Given the description of an element on the screen output the (x, y) to click on. 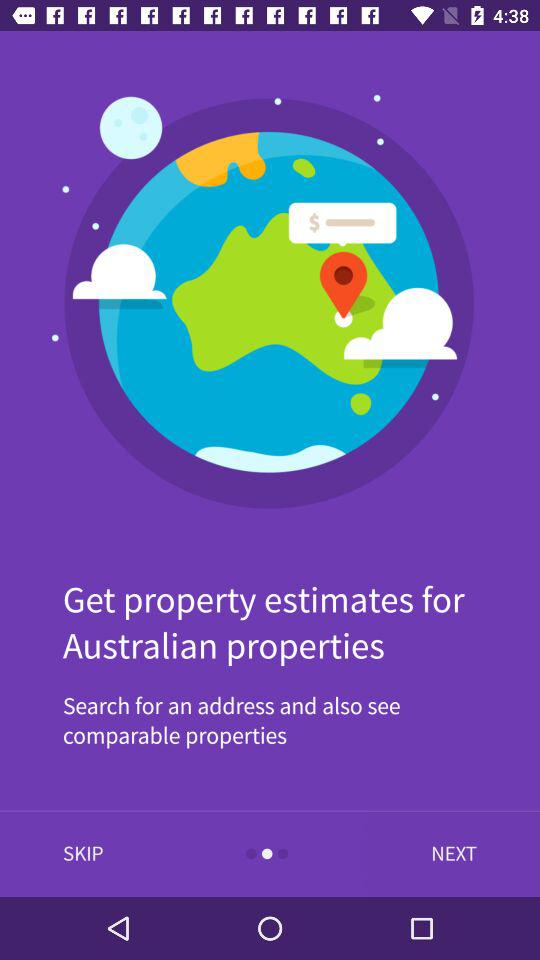
choose next icon (449, 853)
